Given the description of an element on the screen output the (x, y) to click on. 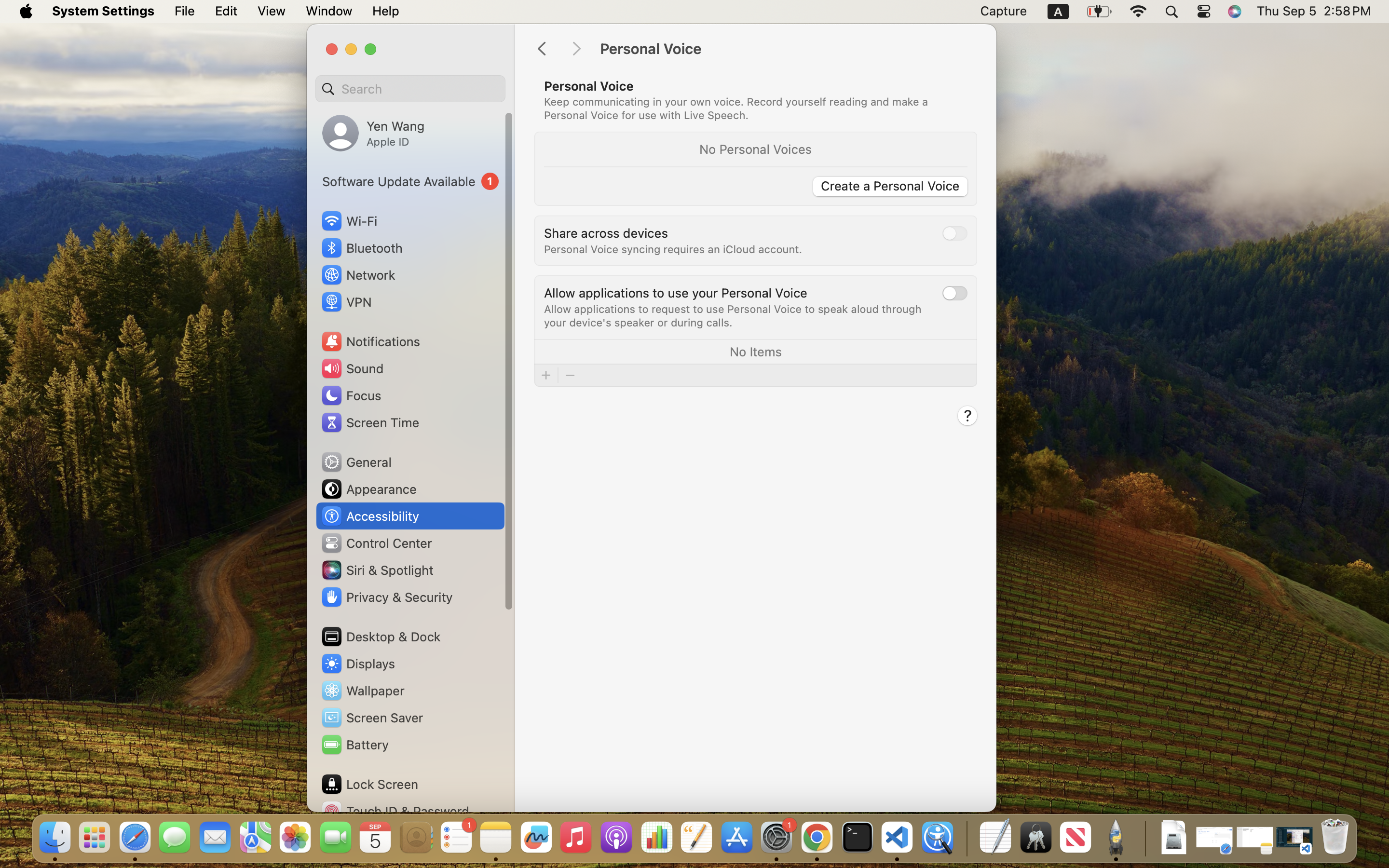
Battery Element type: AXStaticText (354, 744)
Notifications Element type: AXStaticText (370, 340)
No Personal Voices Element type: AXStaticText (755, 148)
